Given the description of an element on the screen output the (x, y) to click on. 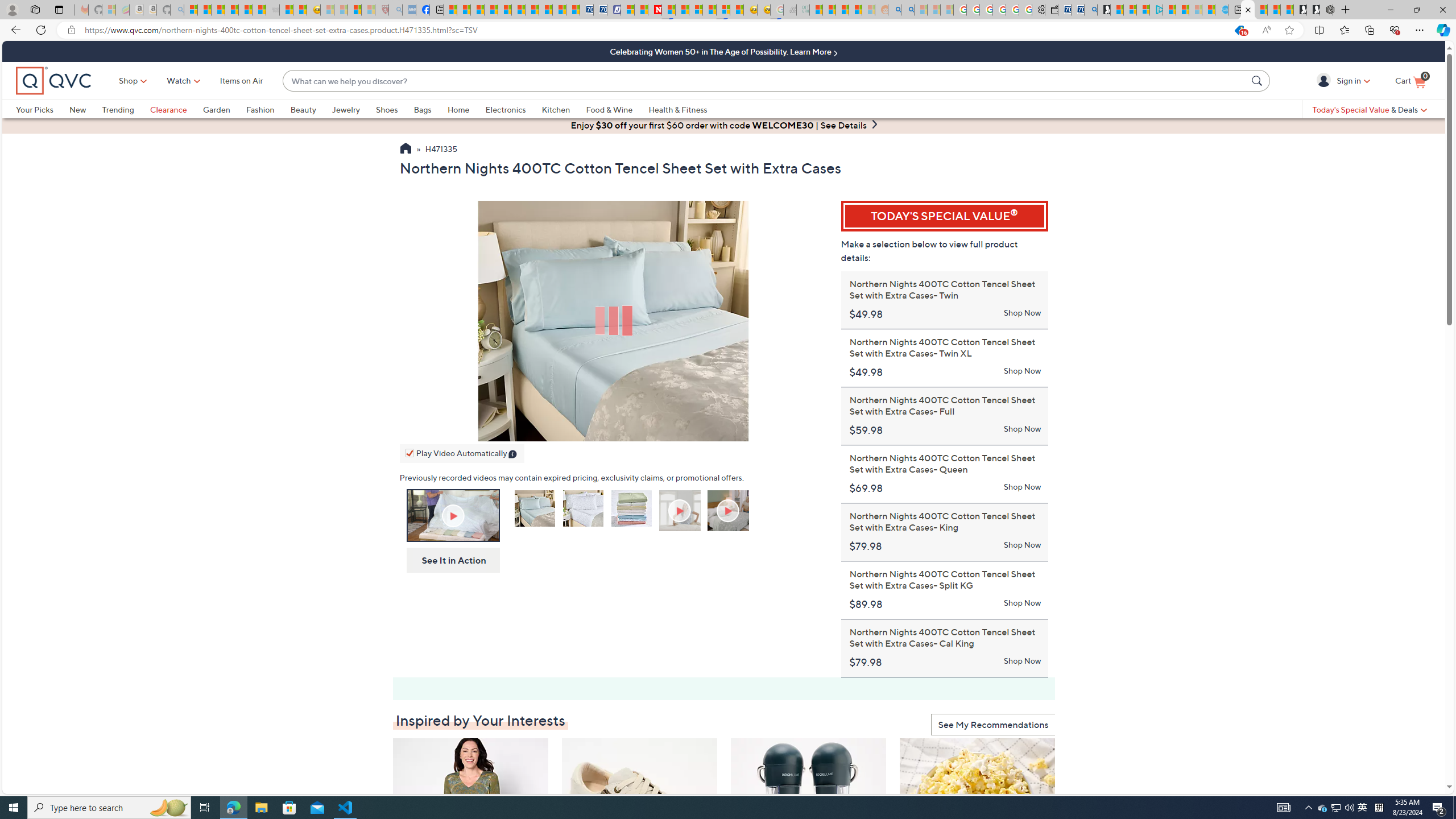
QVC home (53, 80)
On-Air Presentation (453, 515)
Items on Air (241, 80)
H471335 (441, 149)
Health & Fitness (677, 109)
